Given the description of an element on the screen output the (x, y) to click on. 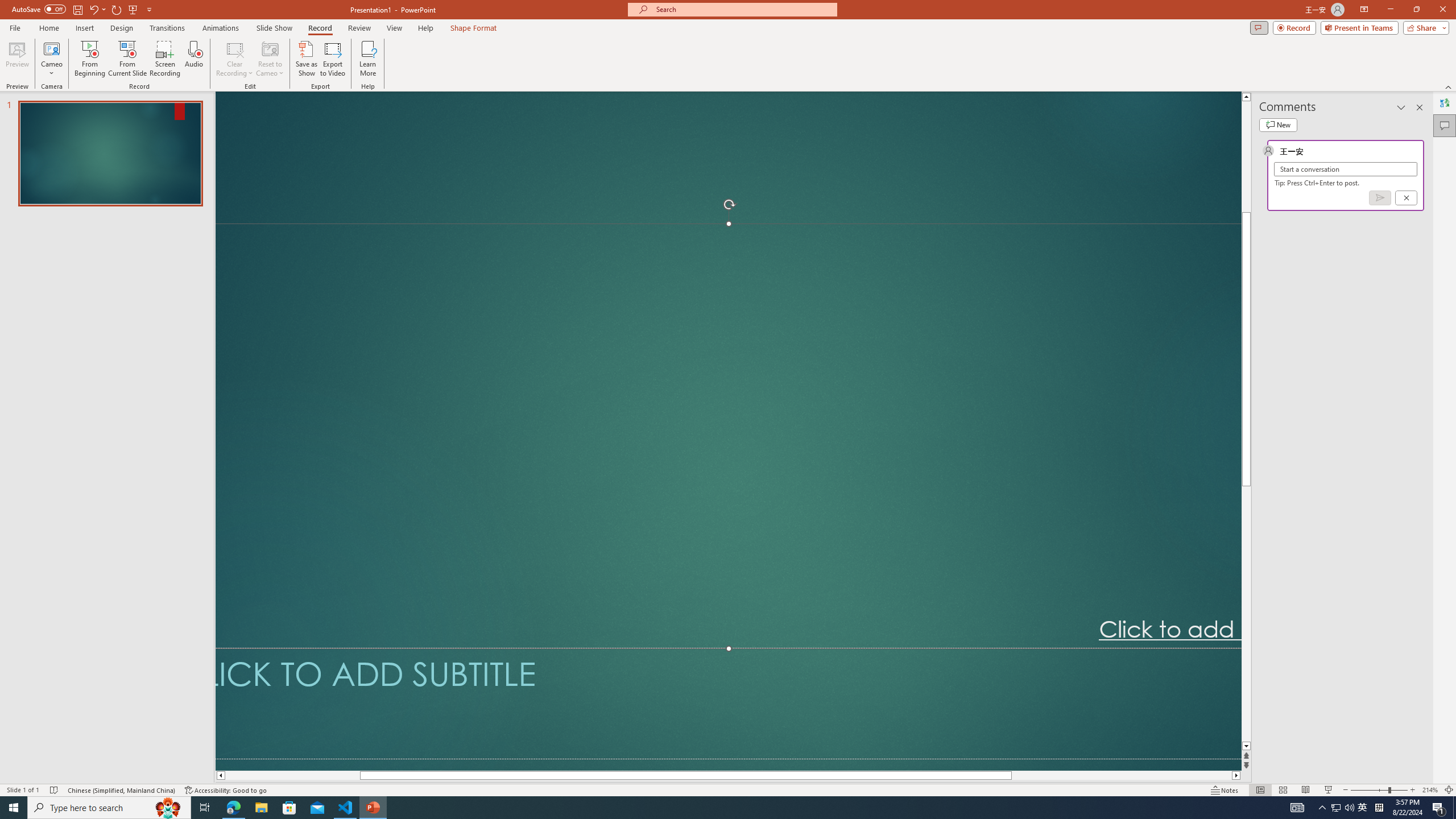
Post comment (Ctrl + Enter) (1379, 197)
Zoom 214% (1430, 790)
